Given the description of an element on the screen output the (x, y) to click on. 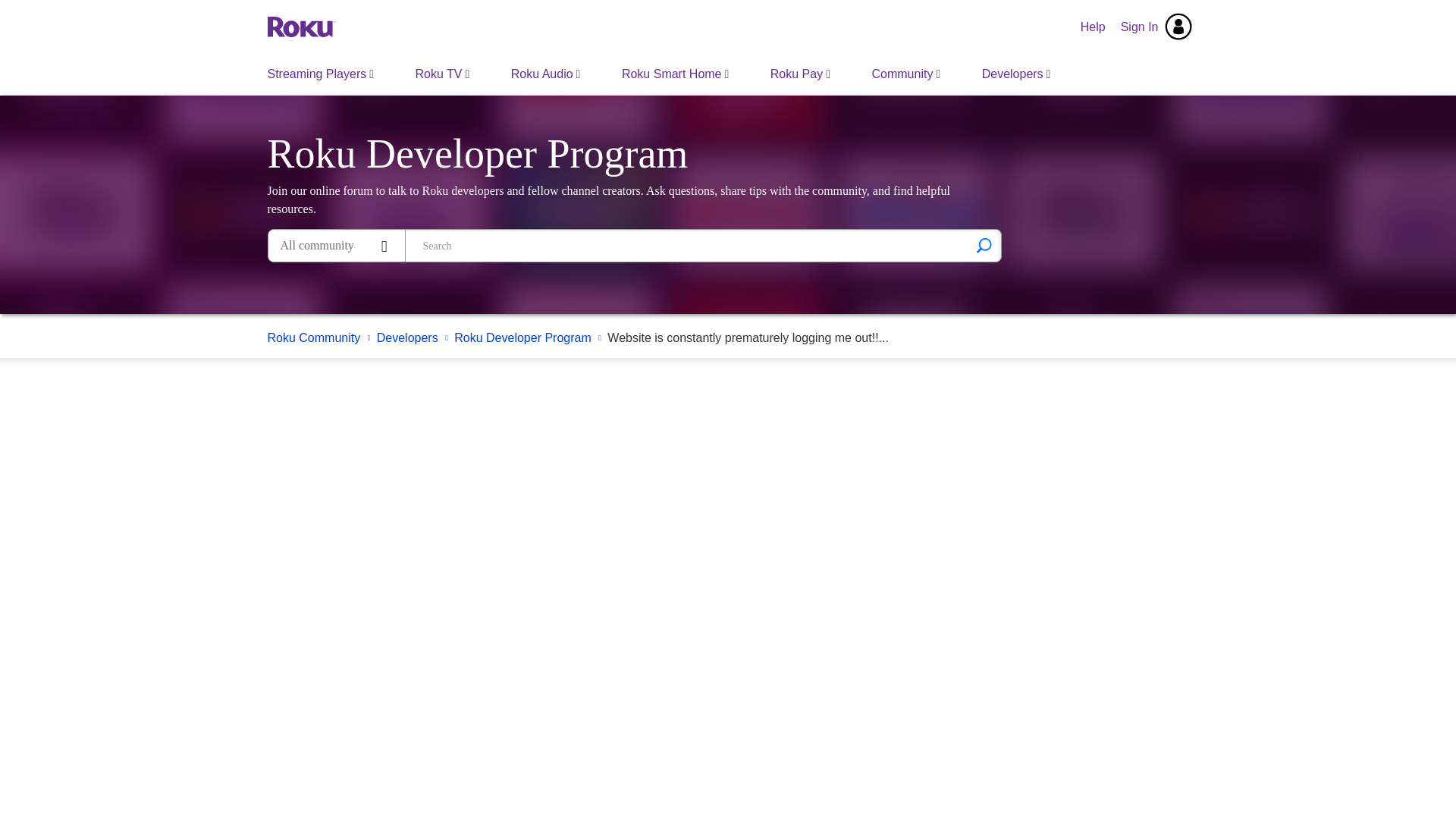
Sign In (1156, 26)
Search (983, 245)
Developers (1016, 73)
Search (983, 245)
Roku Pay (799, 73)
Roku Audio (545, 73)
Help (1093, 26)
Search (686, 245)
Roku TV (442, 73)
Streaming Players (320, 73)
